Given the description of an element on the screen output the (x, y) to click on. 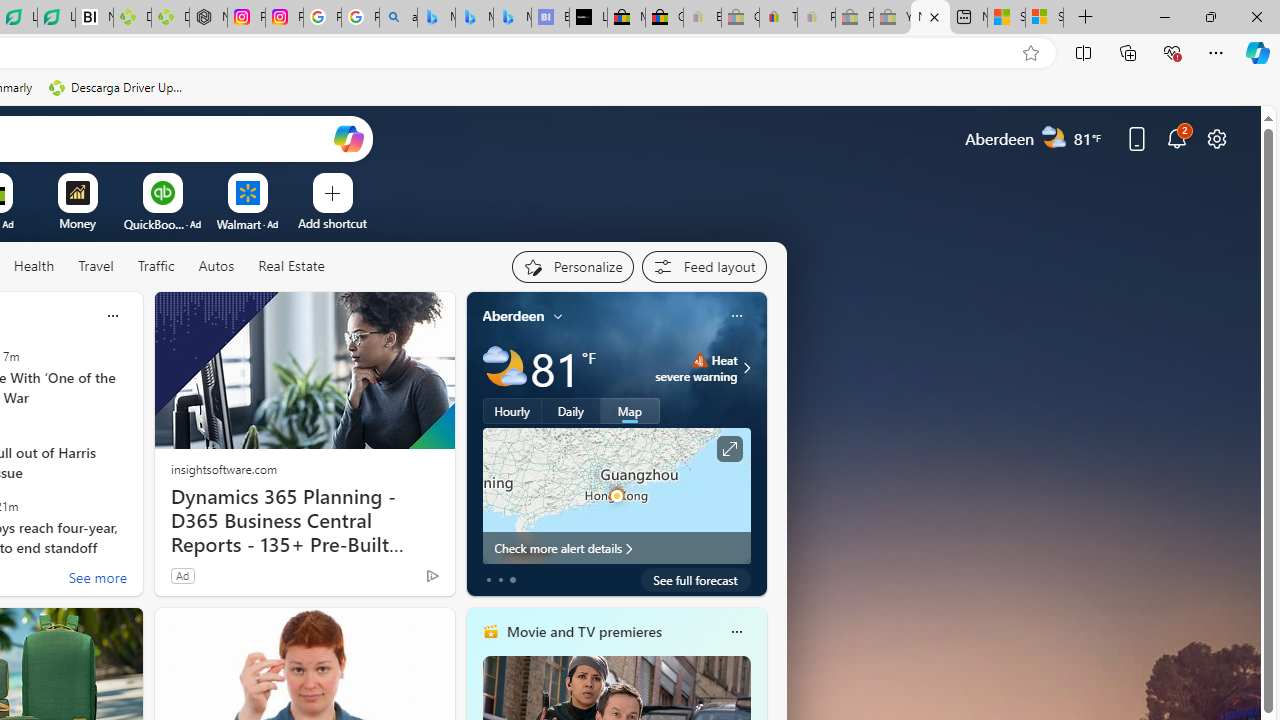
Microsoft Bing Travel - Flights from Hong Kong to Bangkok (436, 17)
Class: weather-arrow-glyph (746, 367)
My location (558, 315)
Sign in to your Microsoft account (1044, 17)
tab-0 (488, 579)
alabama high school quarterback dies - Search (398, 17)
Health (34, 265)
Traffic (155, 267)
Payments Terms of Use | eBay.com - Sleeping (815, 17)
Descarga Driver Updater (170, 17)
